Given the description of an element on the screen output the (x, y) to click on. 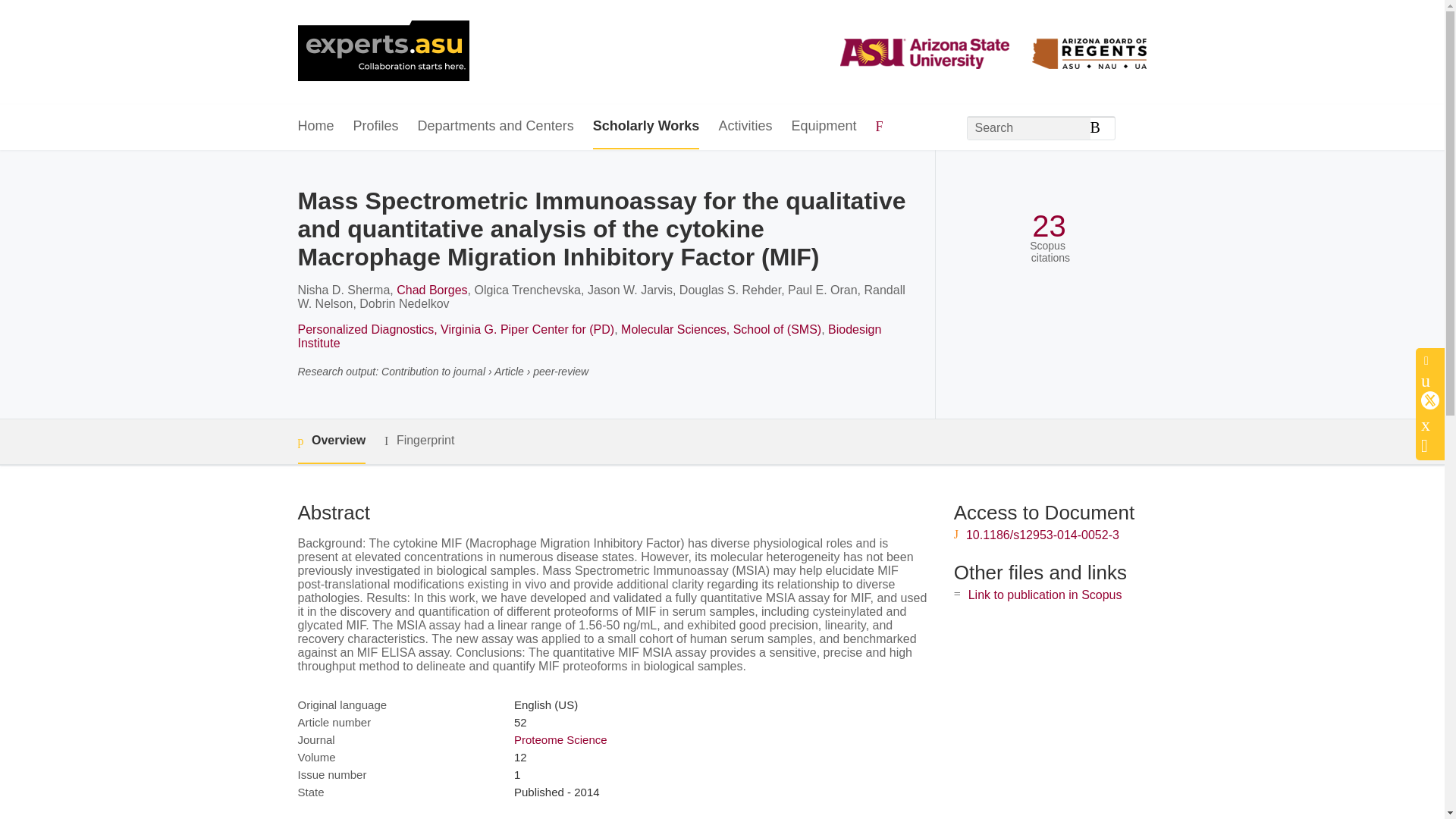
Chad Borges (431, 289)
Overview (331, 441)
Departments and Centers (495, 126)
23 (1048, 225)
Activities (744, 126)
Fingerprint (419, 440)
Profiles (375, 126)
Scholarly Works (646, 126)
Proteome Science (560, 739)
Arizona State University Home (382, 52)
